Given the description of an element on the screen output the (x, y) to click on. 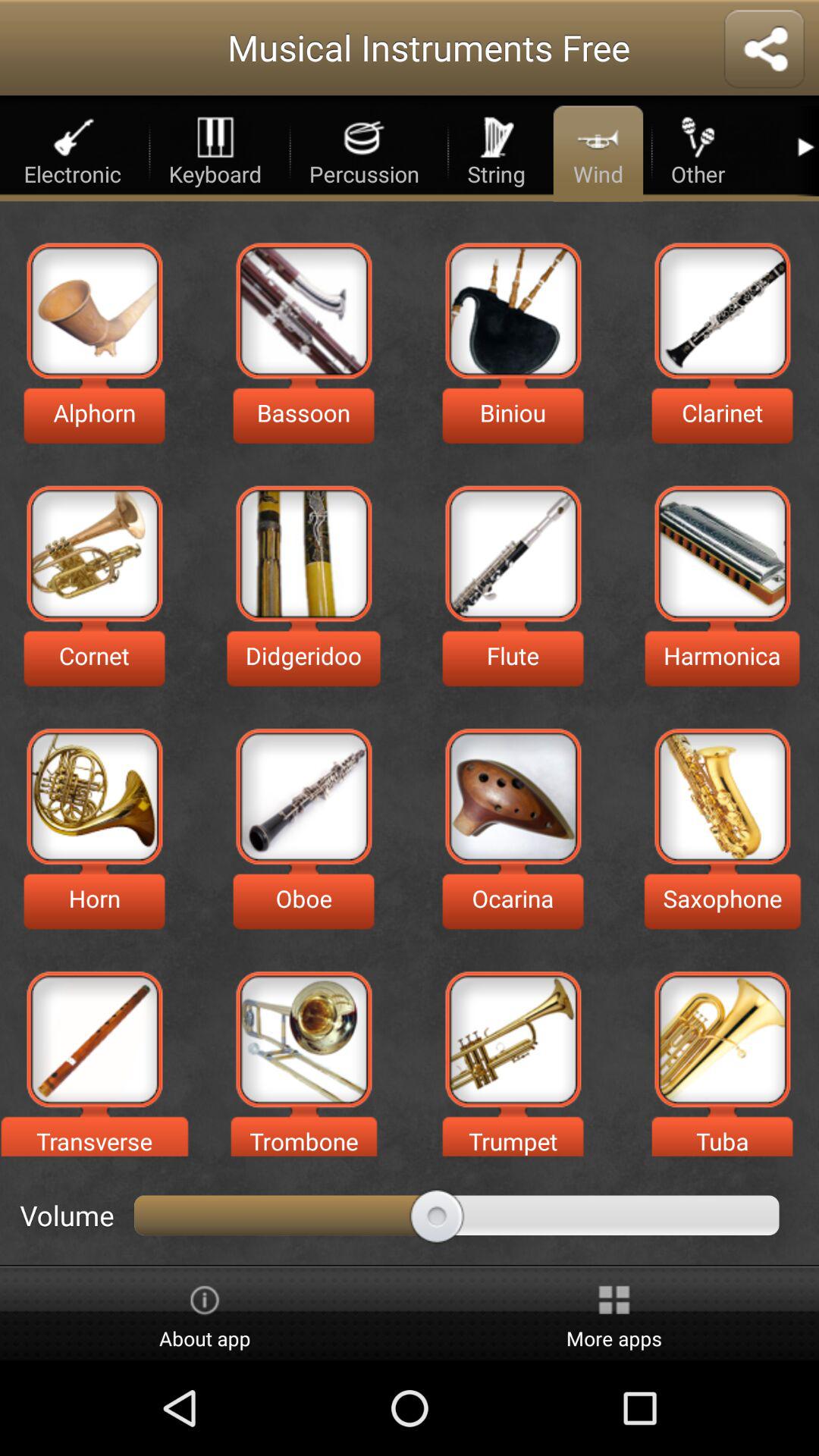
click the ocarina option (513, 796)
